Given the description of an element on the screen output the (x, y) to click on. 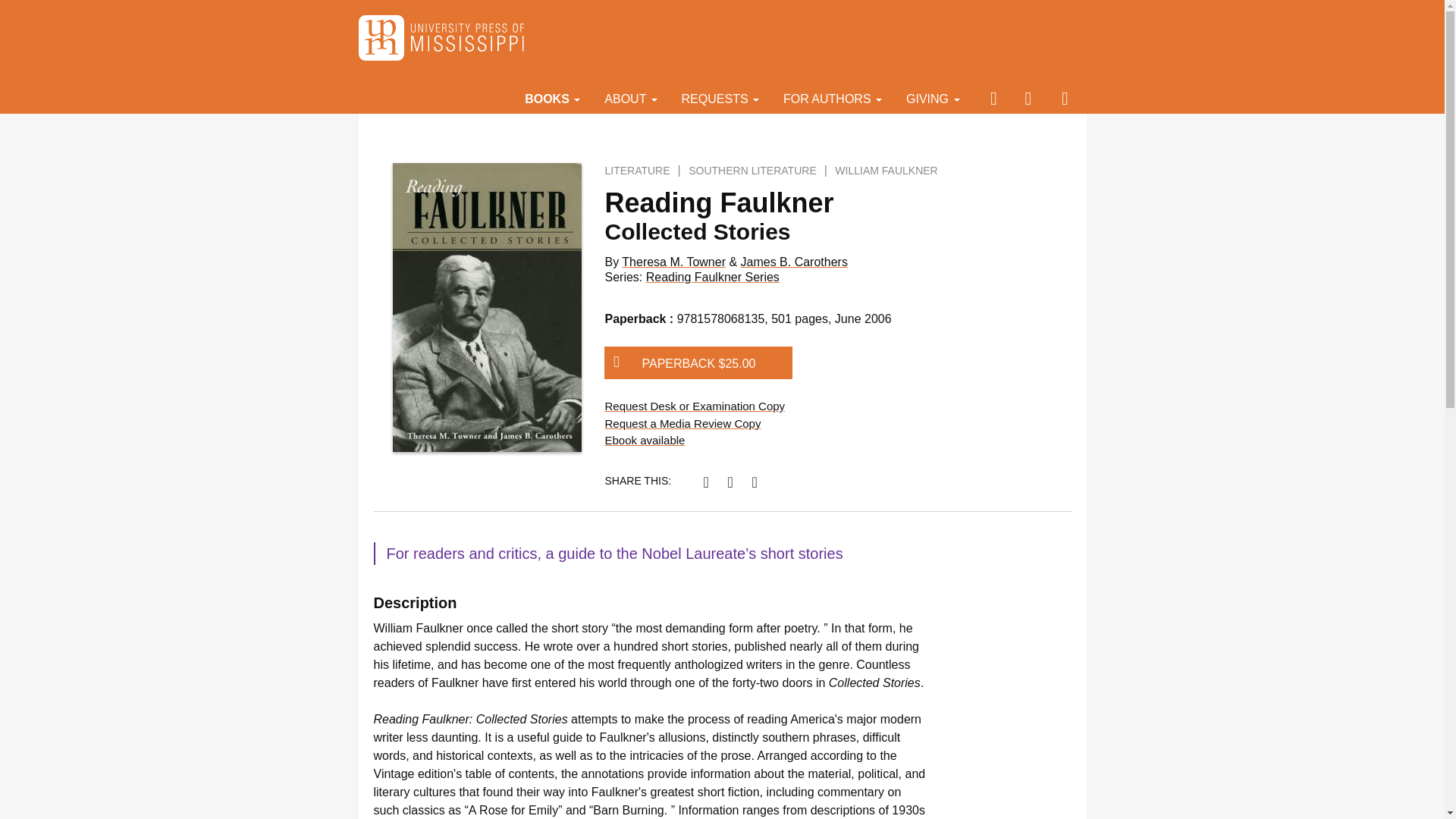
FOR AUTHORS (832, 97)
BOOKS (552, 97)
ABOUT (630, 97)
REQUESTS (720, 97)
